Given the description of an element on the screen output the (x, y) to click on. 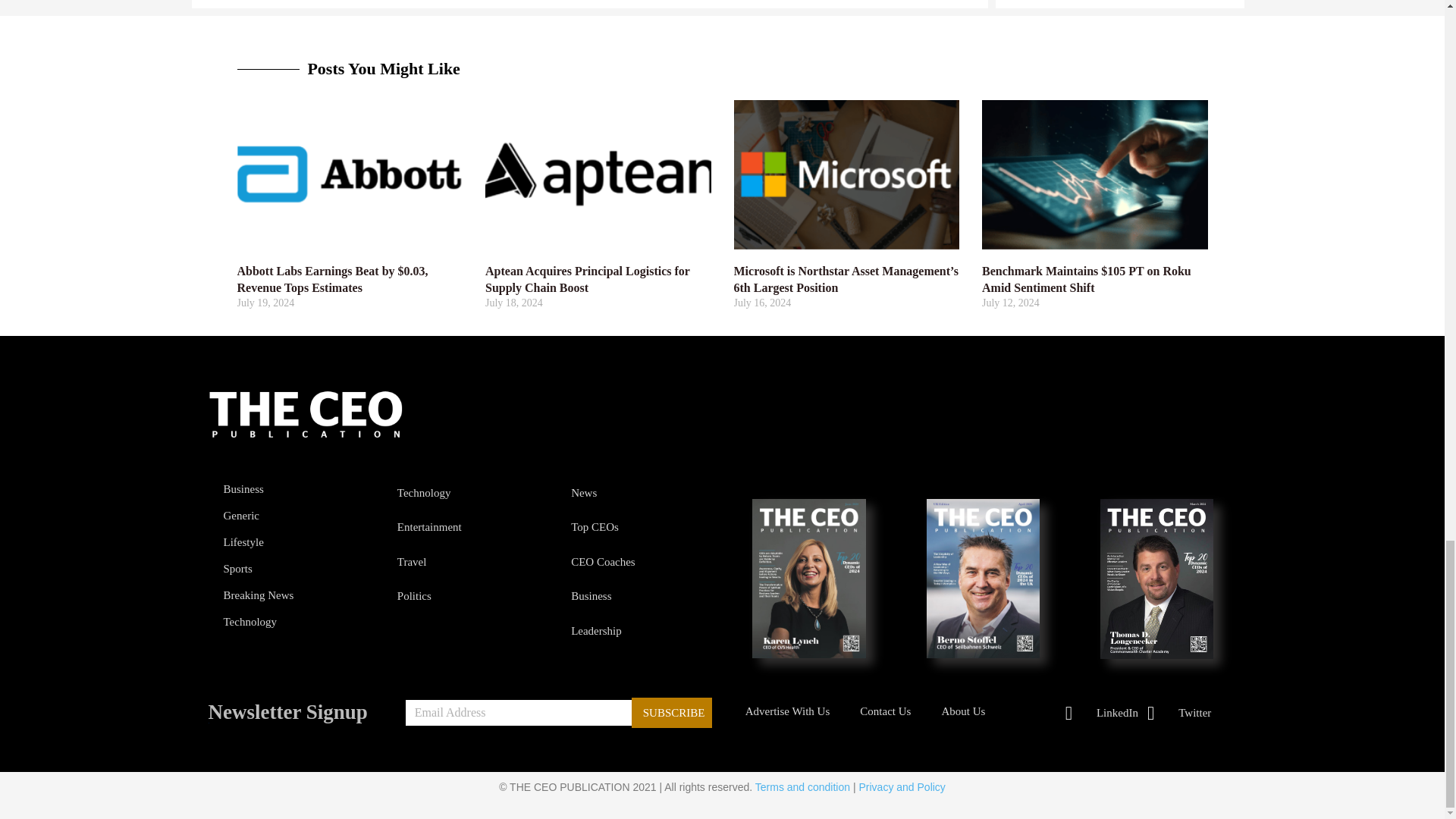
Aptean Acquires Principal Logistics for Supply Chain Boost (587, 279)
